Given the description of an element on the screen output the (x, y) to click on. 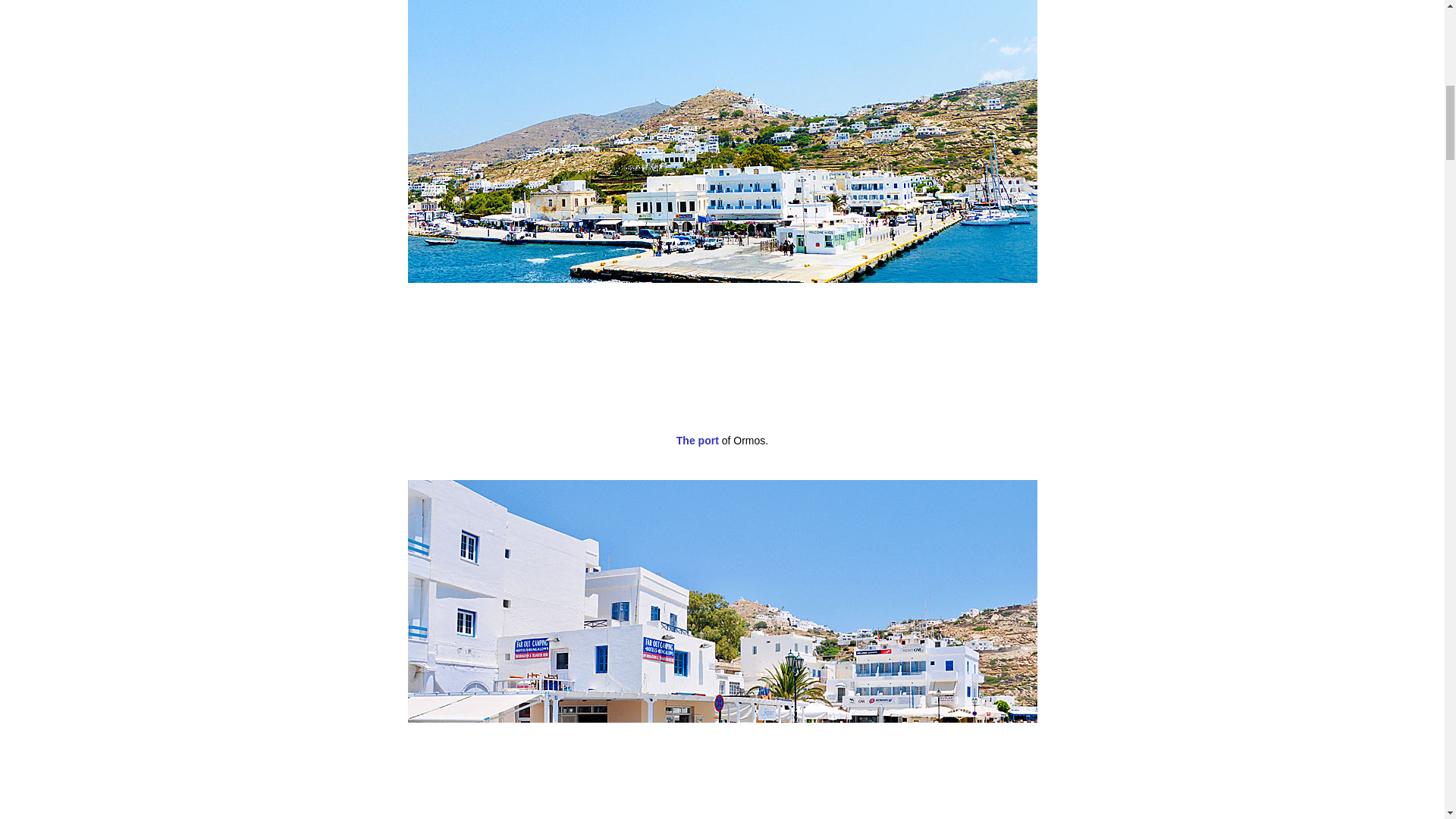
The port (698, 440)
